Given the description of an element on the screen output the (x, y) to click on. 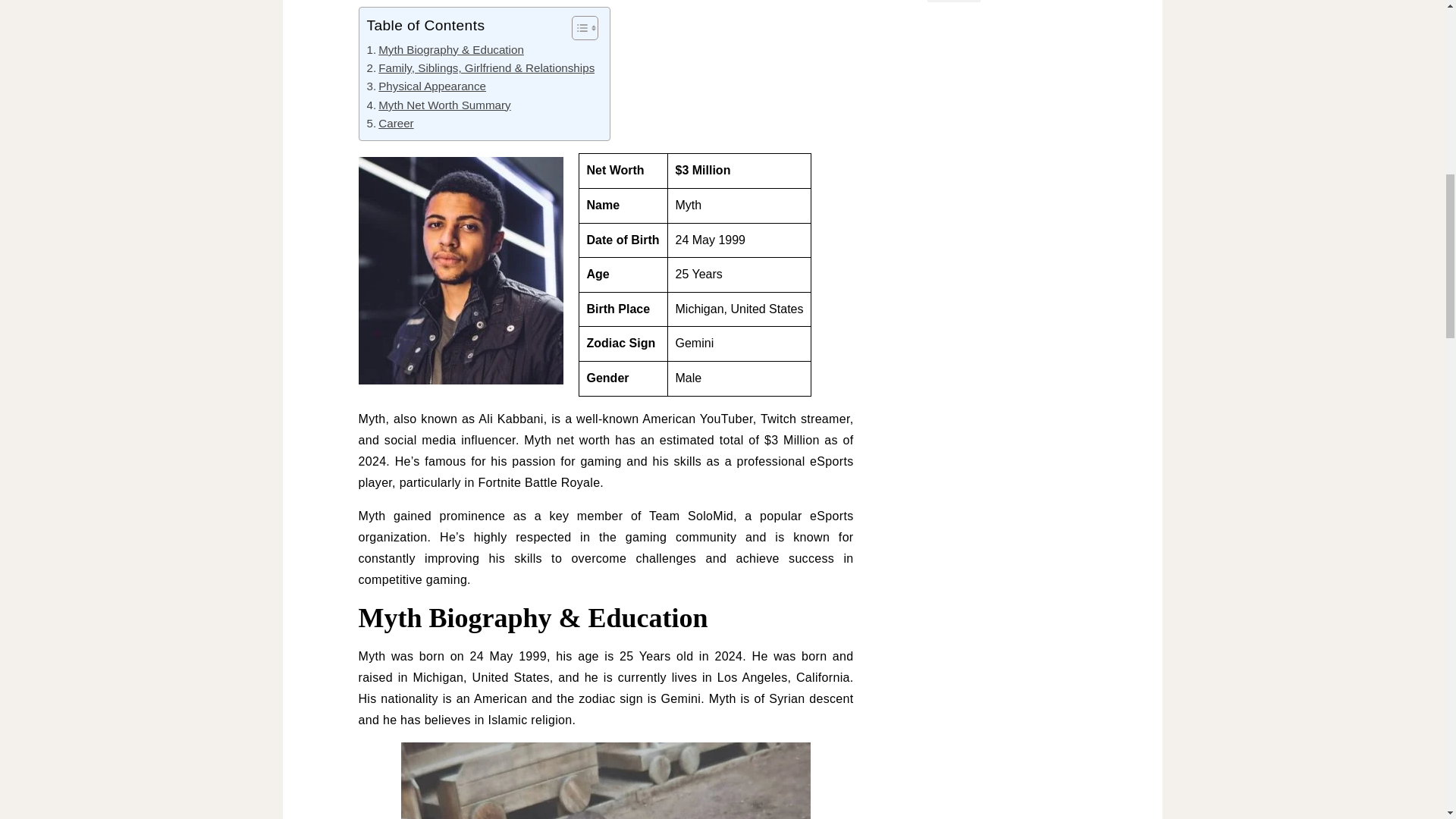
Career (389, 123)
Myth Net Worth Summary (438, 105)
Physical Appearance (426, 85)
Physical Appearance (426, 85)
Career (389, 123)
Myth Net Worth Summary (438, 105)
